Given the description of an element on the screen output the (x, y) to click on. 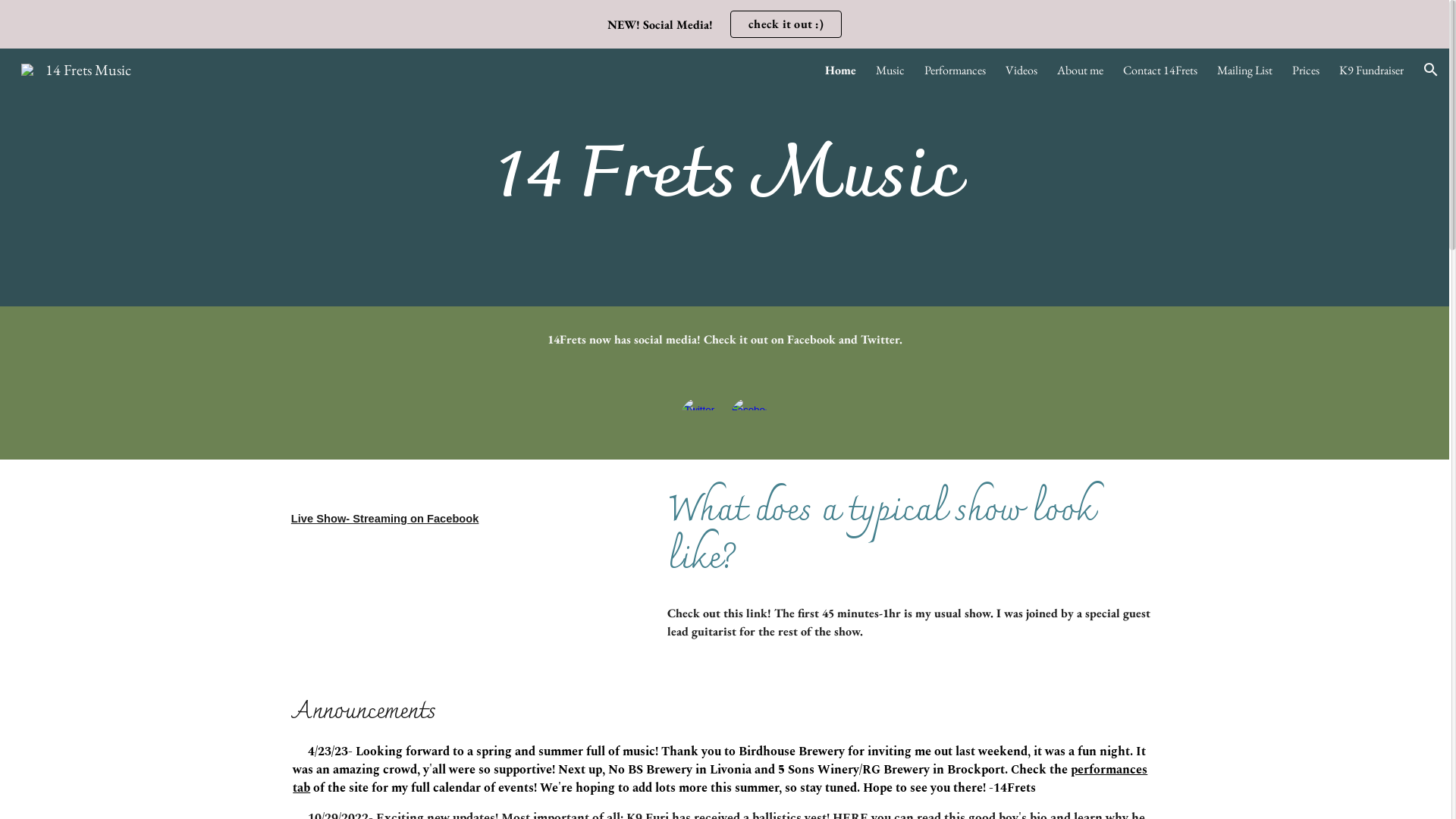
14 Frets Music Element type: text (76, 67)
About me Element type: text (1080, 70)
Mailing List Element type: text (1244, 70)
performances tab Element type: text (719, 778)
Performances Element type: text (954, 70)
Videos Element type: text (1021, 70)
Music Element type: text (889, 70)
Live Show- Streaming on Facebook Element type: text (385, 518)
Prices Element type: text (1305, 70)
check it out :) Element type: text (785, 24)
K9 Fundraiser Element type: text (1371, 70)
Home Element type: text (840, 70)
Contact 14Frets Element type: text (1160, 70)
